Given the description of an element on the screen output the (x, y) to click on. 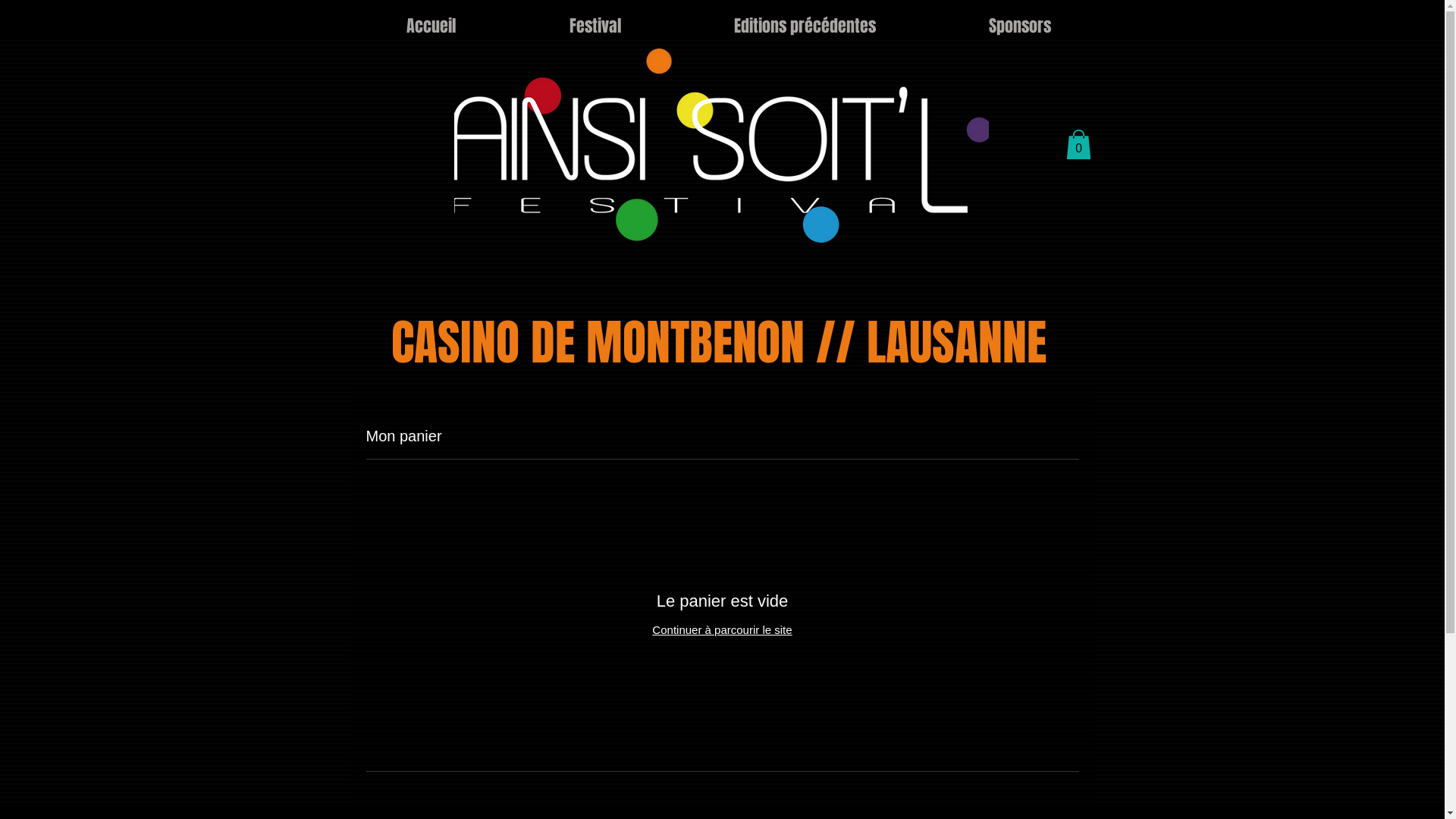
Festival Element type: text (594, 26)
Sponsors Element type: text (1019, 26)
Accueil Element type: text (429, 26)
0 Element type: text (1078, 144)
